Given the description of an element on the screen output the (x, y) to click on. 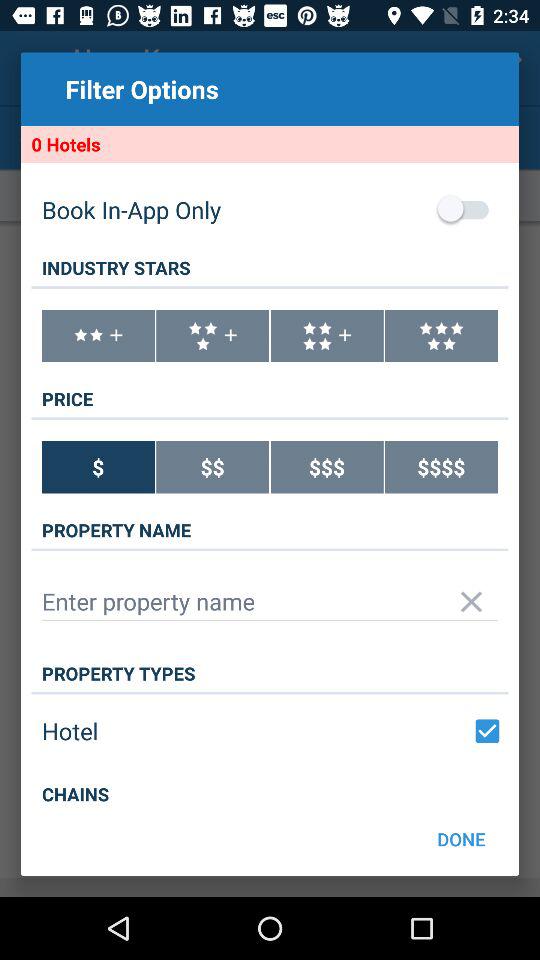
input name of property (269, 601)
